Given the description of an element on the screen output the (x, y) to click on. 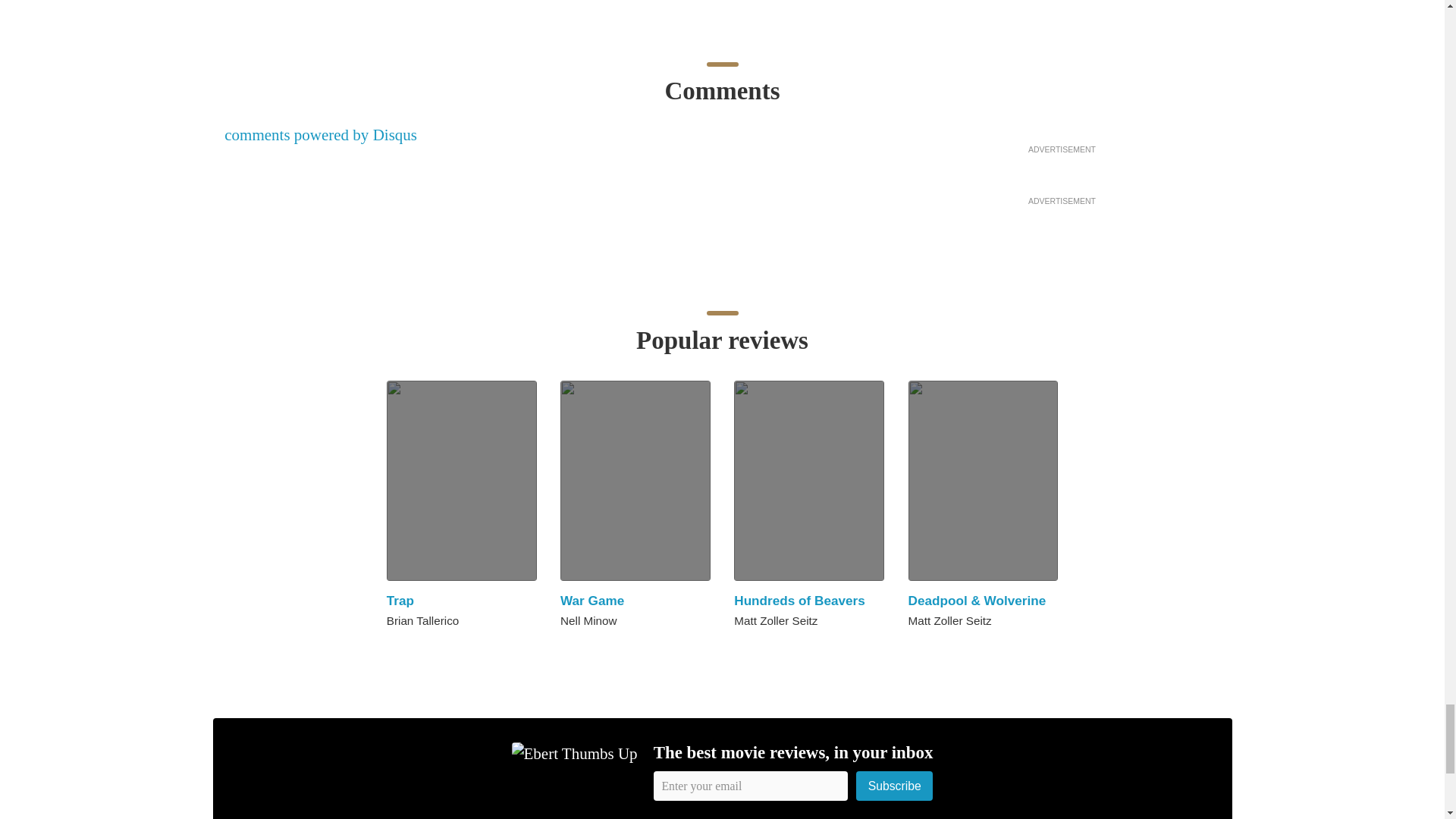
Subscribe (894, 785)
